Given the description of an element on the screen output the (x, y) to click on. 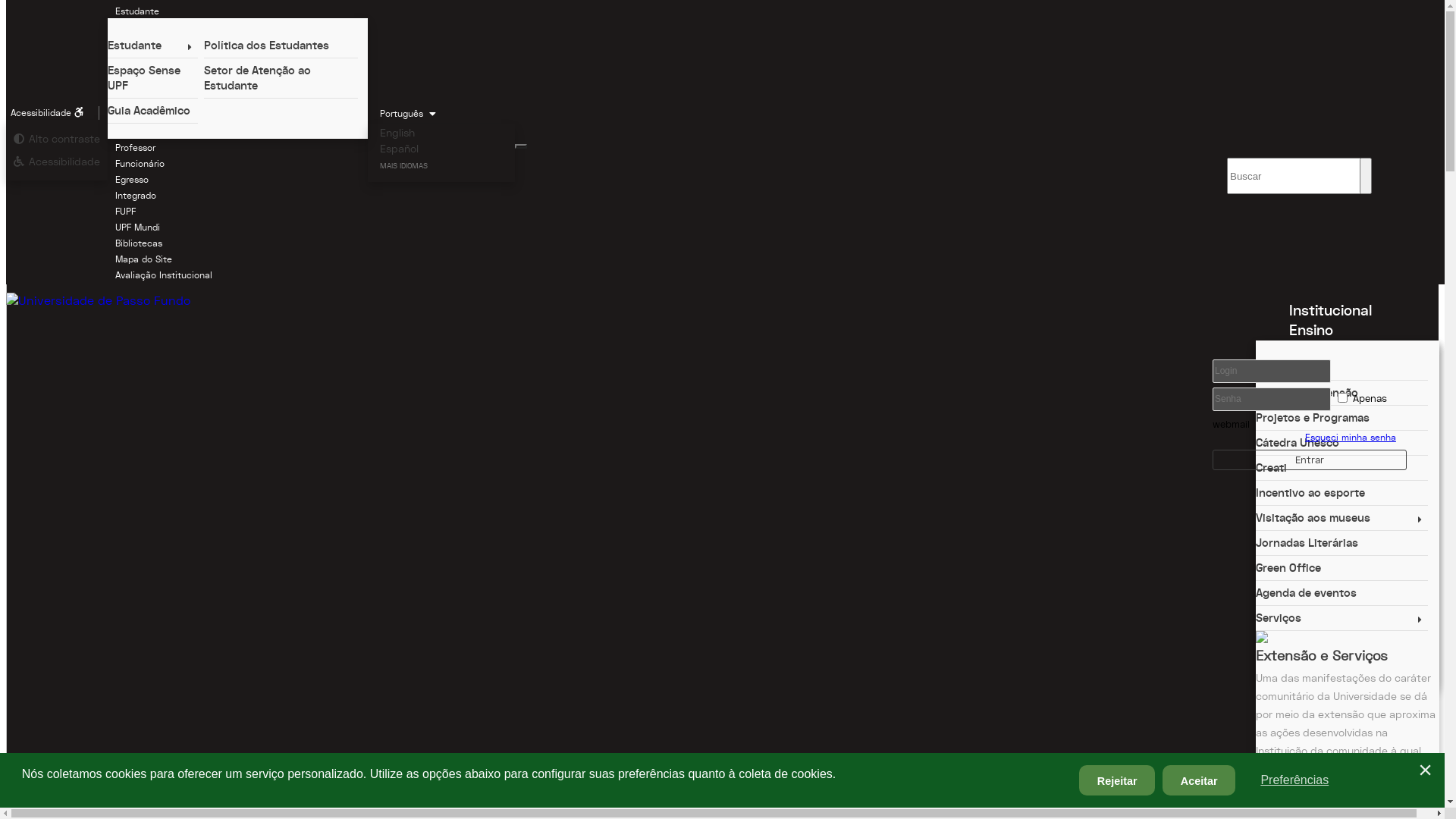
Egresso Element type: text (131, 179)
Mantenedora FUPF Element type: text (1341, 492)
UPF Mundi Element type: text (137, 227)
Como chegar Element type: text (1341, 773)
Institucional Element type: text (1330, 309)
Aceitar Element type: text (1198, 780)
Entrar Element type: text (1309, 458)
Trabalhe com a UPF Element type: text (1341, 708)
Integrado Element type: text (135, 195)
Acessibilidade Element type: text (56, 161)
FUPF Element type: text (125, 211)
Relato Institucional Element type: text (1341, 467)
Reitoria Element type: text (1341, 542)
Esqueci minha senha Element type: text (1304, 436)
Ensino Element type: text (1310, 329)
Intranet Element type: text (1309, 433)
Estrutura Organizacional Element type: text (1341, 442)
Mapa do Site Element type: text (143, 258)
Alto contraste Element type: text (56, 138)
Agenda de eventos Element type: text (1341, 592)
Internacional Element type: text (1332, 388)
Professor Element type: text (135, 147)
Bibliotecas Element type: text (138, 243)
Rejeitar Element type: text (1116, 780)
English Element type: text (397, 132)
Estudante Element type: text (136, 10)
busca Element type: text (520, 146)
Estrutura Multicampi Element type: text (1341, 658)
Acessibilidade Element type: text (52, 112)
